Given the description of an element on the screen output the (x, y) to click on. 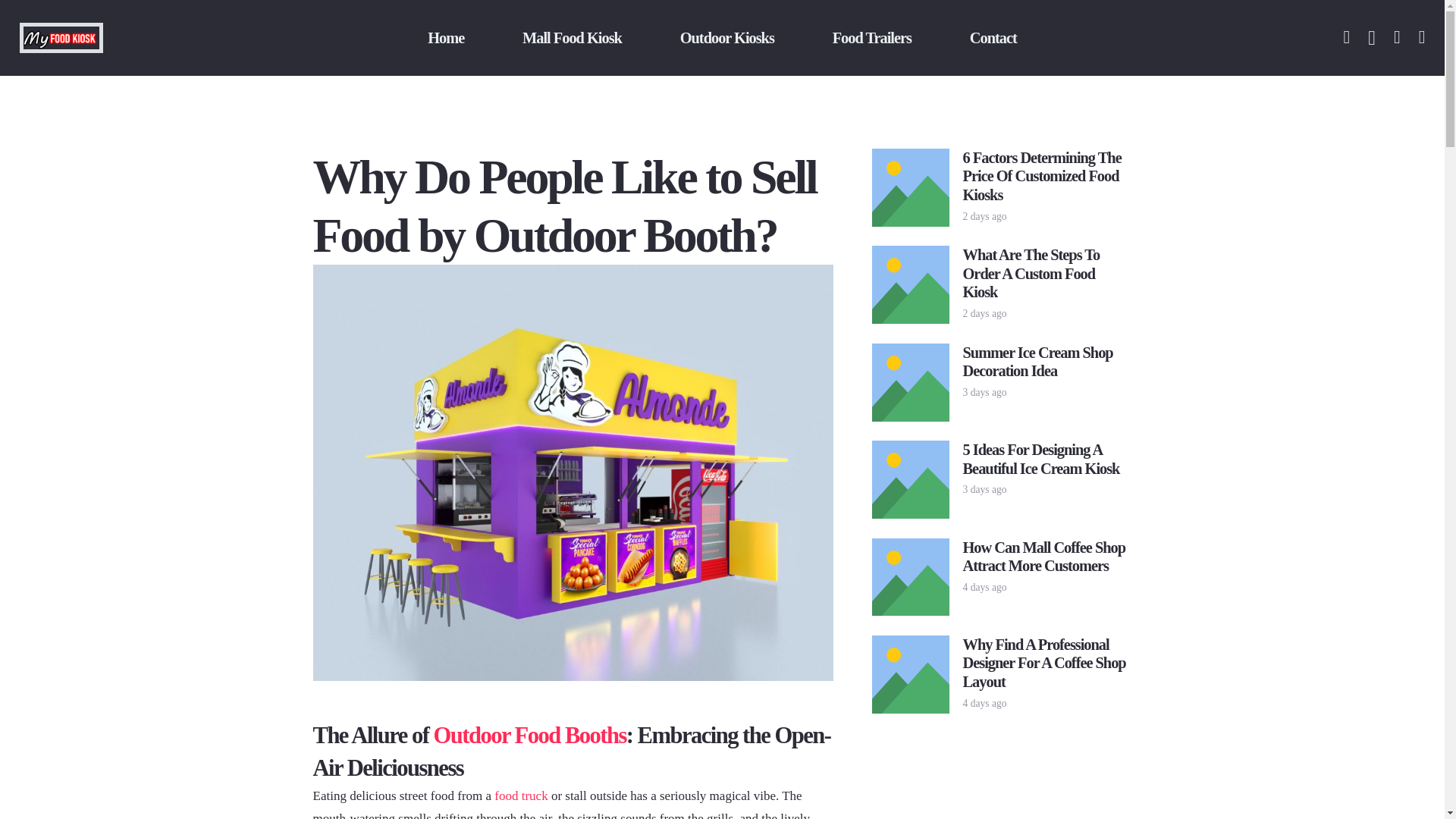
Mall Food Kiosk (571, 38)
Home (445, 38)
Outdoor Kiosks (726, 38)
Contact (992, 38)
food truck (521, 795)
Outdoor Food Booths (529, 735)
Food Trailers (871, 38)
